Given the description of an element on the screen output the (x, y) to click on. 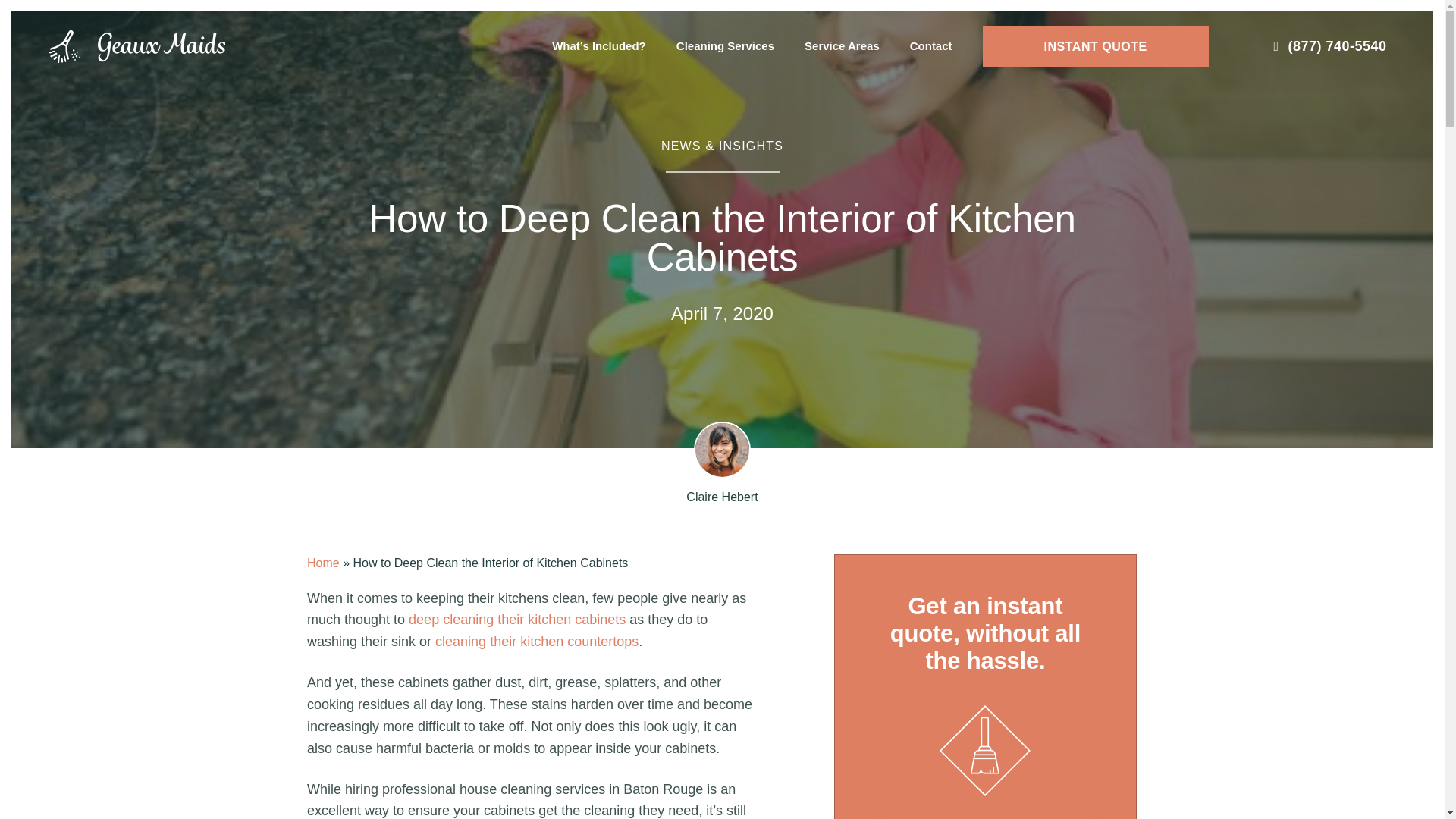
Cleaning Services (725, 45)
Service Areas (842, 45)
Contact (931, 45)
